Given the description of an element on the screen output the (x, y) to click on. 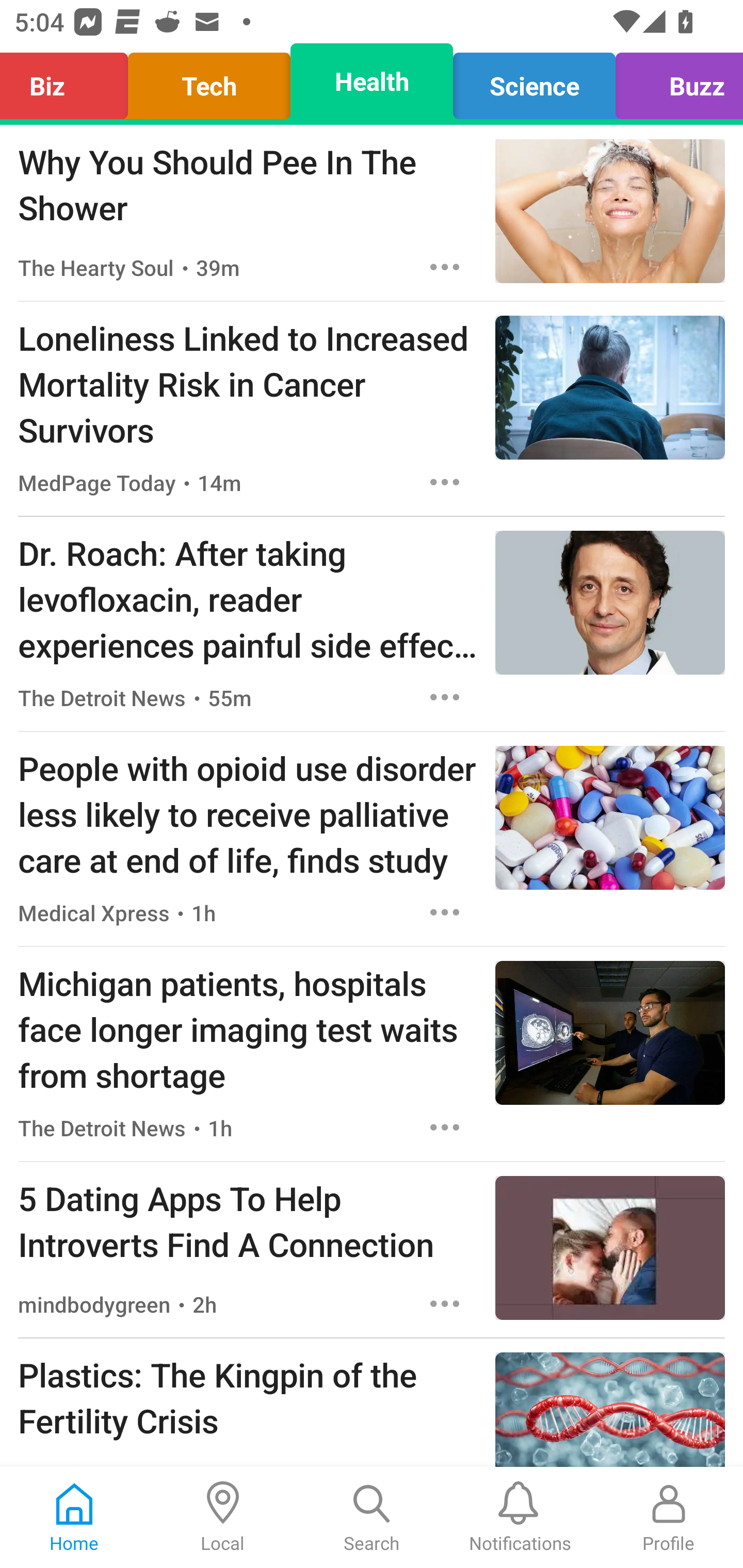
Biz (69, 81)
Tech (209, 81)
Health (371, 81)
Science (534, 81)
Buzz (673, 81)
Options (444, 267)
Options (444, 481)
Options (444, 697)
Options (444, 912)
Options (444, 1127)
Options (444, 1303)
Local (222, 1517)
Search (371, 1517)
Notifications (519, 1517)
Profile (668, 1517)
